Given the description of an element on the screen output the (x, y) to click on. 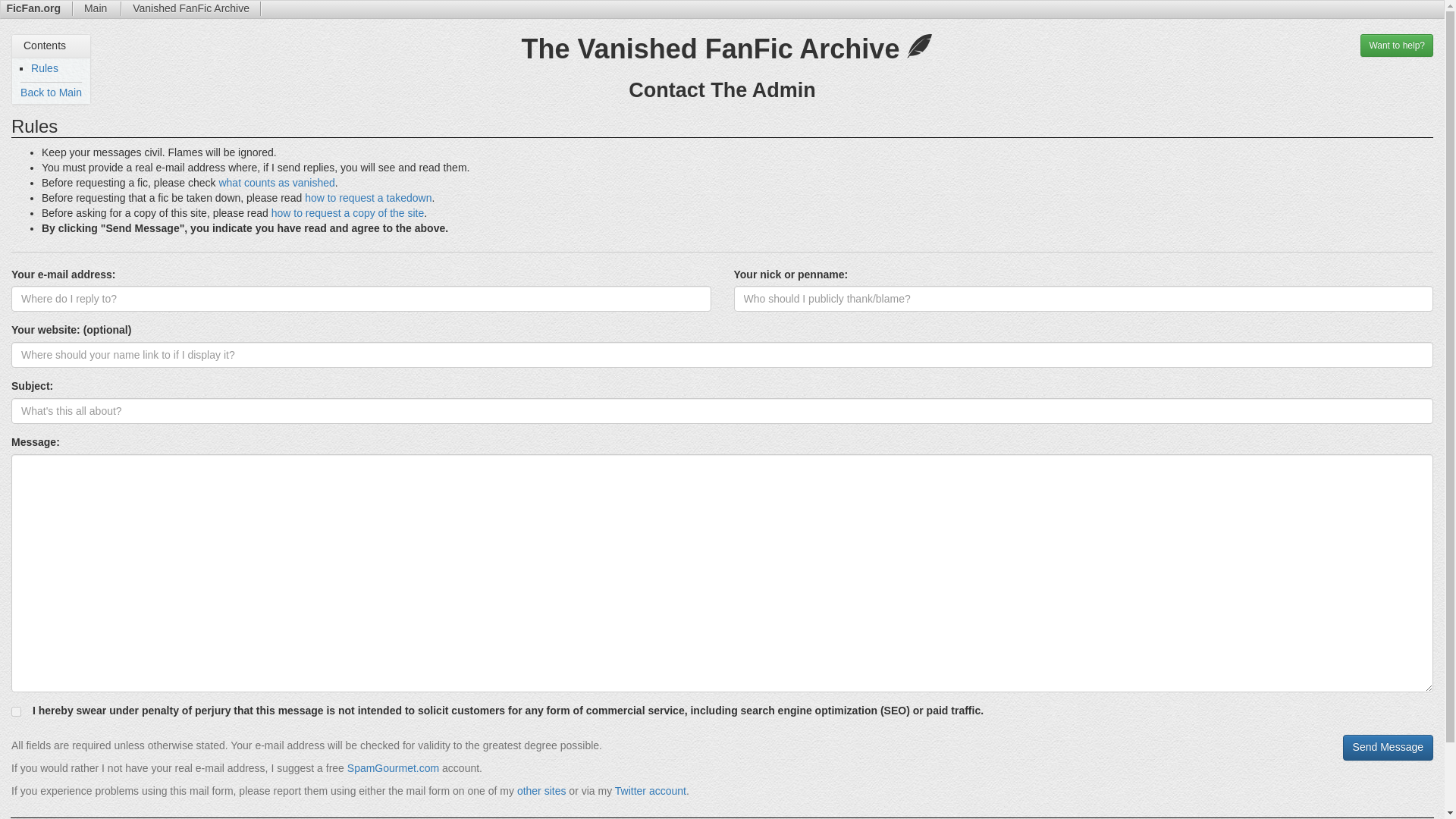
sites (555, 790)
Send Message (1387, 747)
Vanished FanFic Archive (191, 8)
Twitter account (649, 790)
Send Message (1387, 747)
on (16, 711)
SpamGourmet.com (393, 767)
how to request a copy of the site (347, 213)
Rules (44, 68)
FicFan.org (95, 8)
Back to Main (50, 92)
what counts as vanished (276, 182)
Main (95, 8)
how to request a takedown (367, 197)
Want to help? (1395, 45)
